Given the description of an element on the screen output the (x, y) to click on. 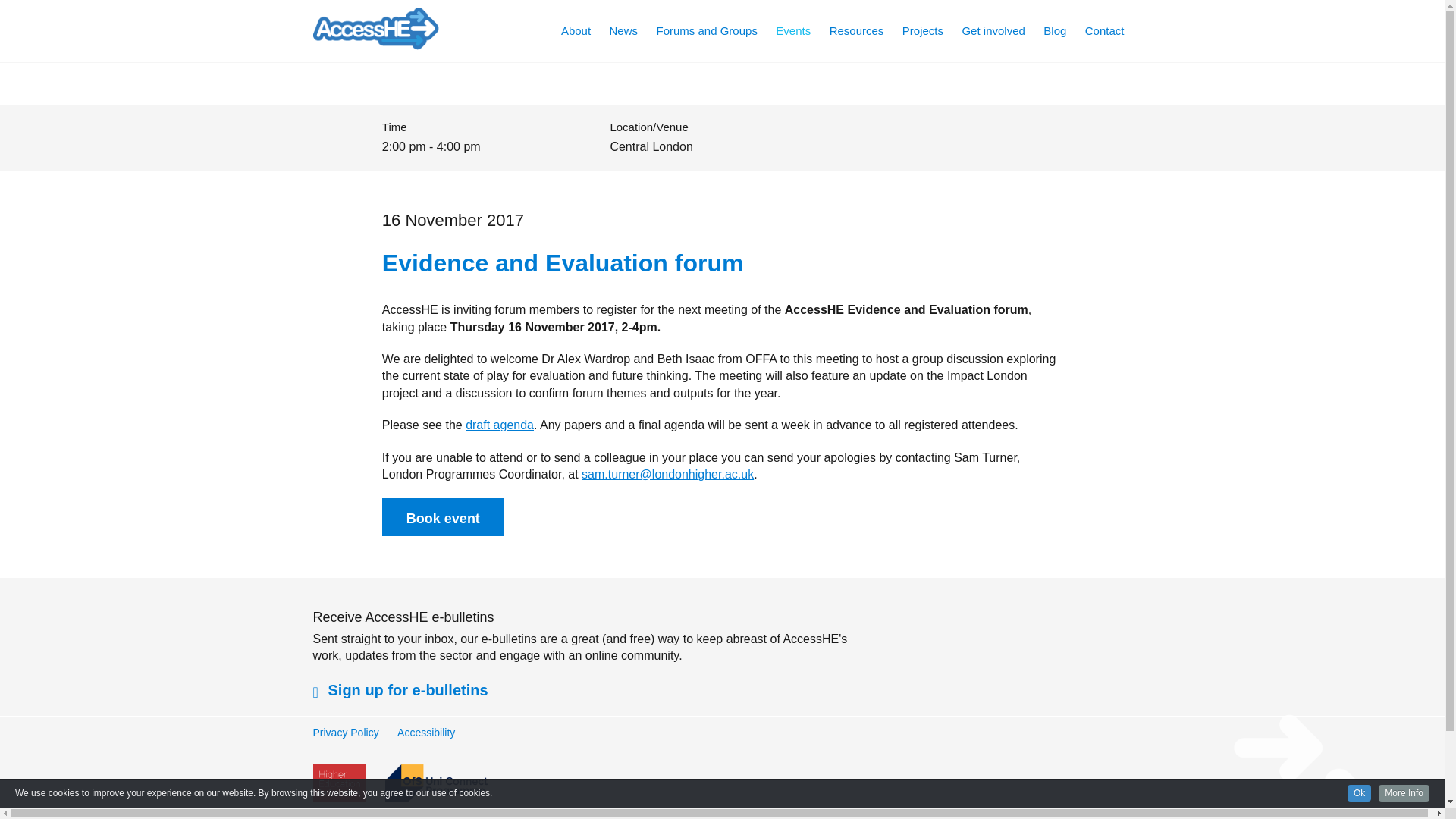
News (624, 30)
Forums and Groups (707, 30)
About (575, 30)
